Given the description of an element on the screen output the (x, y) to click on. 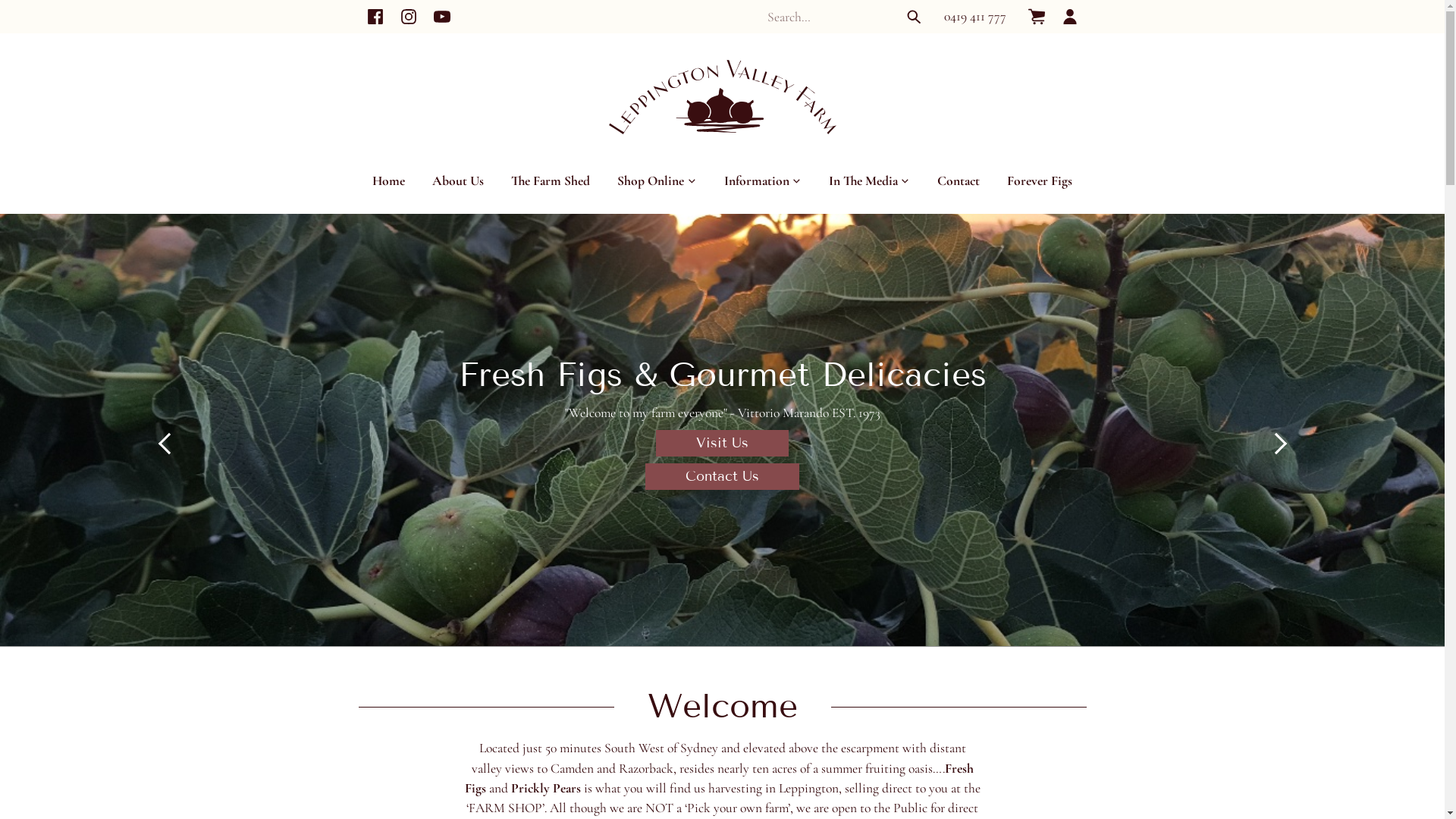
Shop Online Element type: text (656, 180)
View cart (0 items) Element type: hover (1035, 16)
Forever Figs Element type: text (1039, 180)
Contact Us Element type: text (722, 476)
The Farm Shed Element type: text (550, 180)
My account Element type: hover (1068, 16)
Information Element type: text (762, 180)
Search Element type: hover (913, 16)
In The Media Element type: text (869, 180)
Visit Us Element type: text (721, 442)
Home Element type: text (388, 180)
Contact Element type: text (958, 180)
About Us Element type: text (457, 180)
FARM SHOP Element type: text (505, 807)
0419 411 777 Element type: text (975, 16)
